Given the description of an element on the screen output the (x, y) to click on. 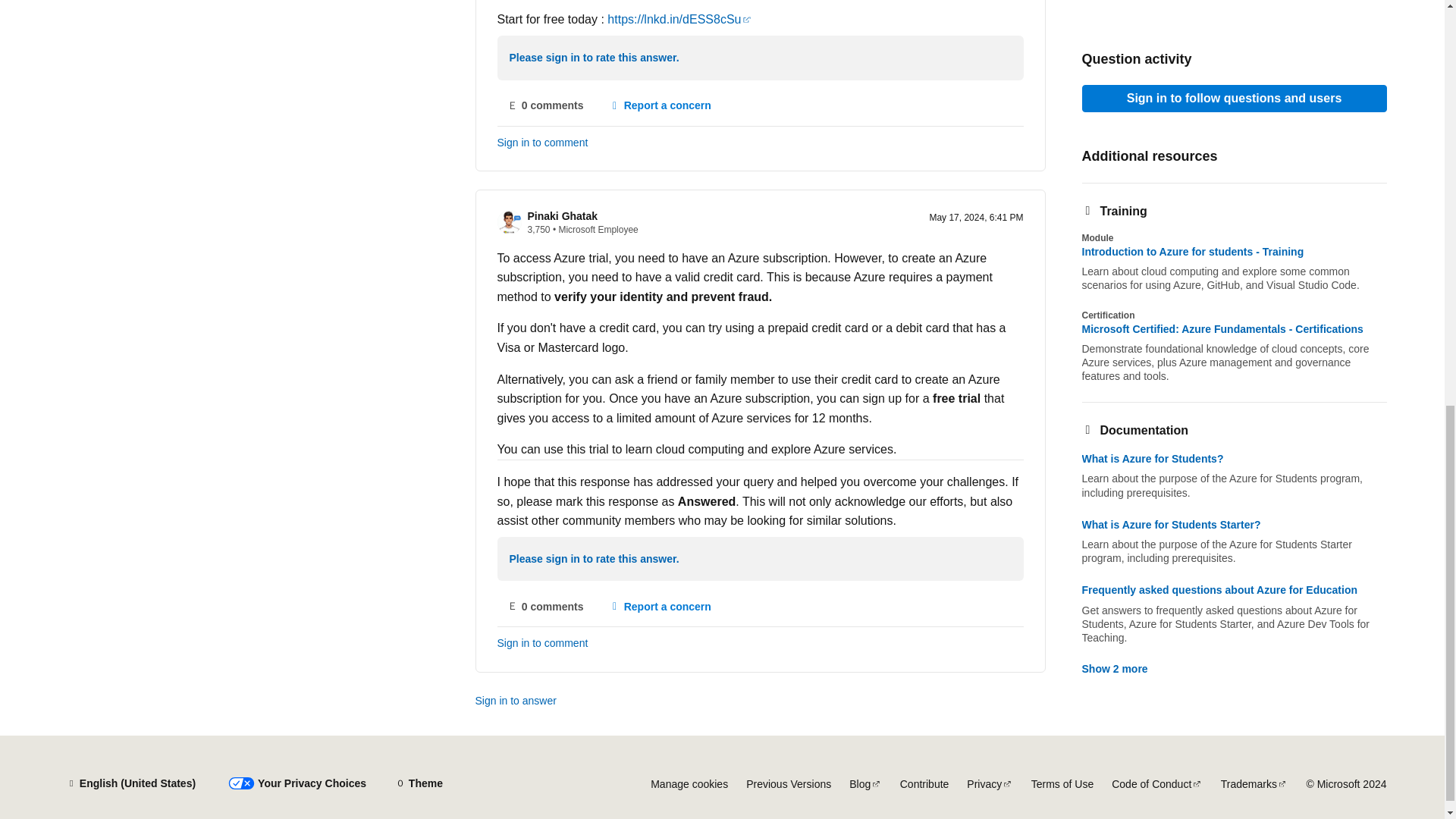
No comments (545, 605)
Report a concern (659, 105)
Reputation points (538, 229)
No comments (545, 105)
